Given the description of an element on the screen output the (x, y) to click on. 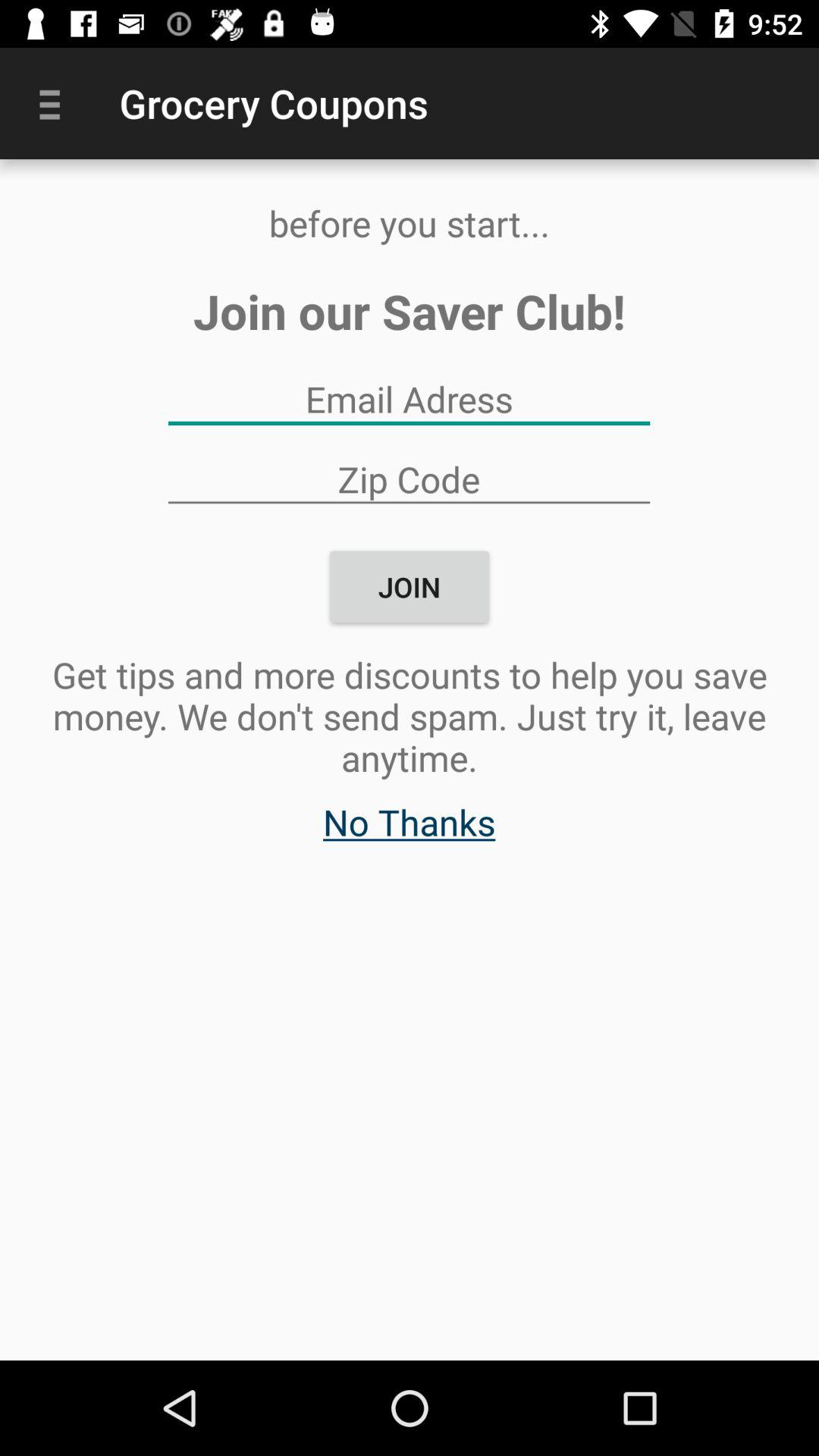
flip to no thanks item (409, 829)
